Given the description of an element on the screen output the (x, y) to click on. 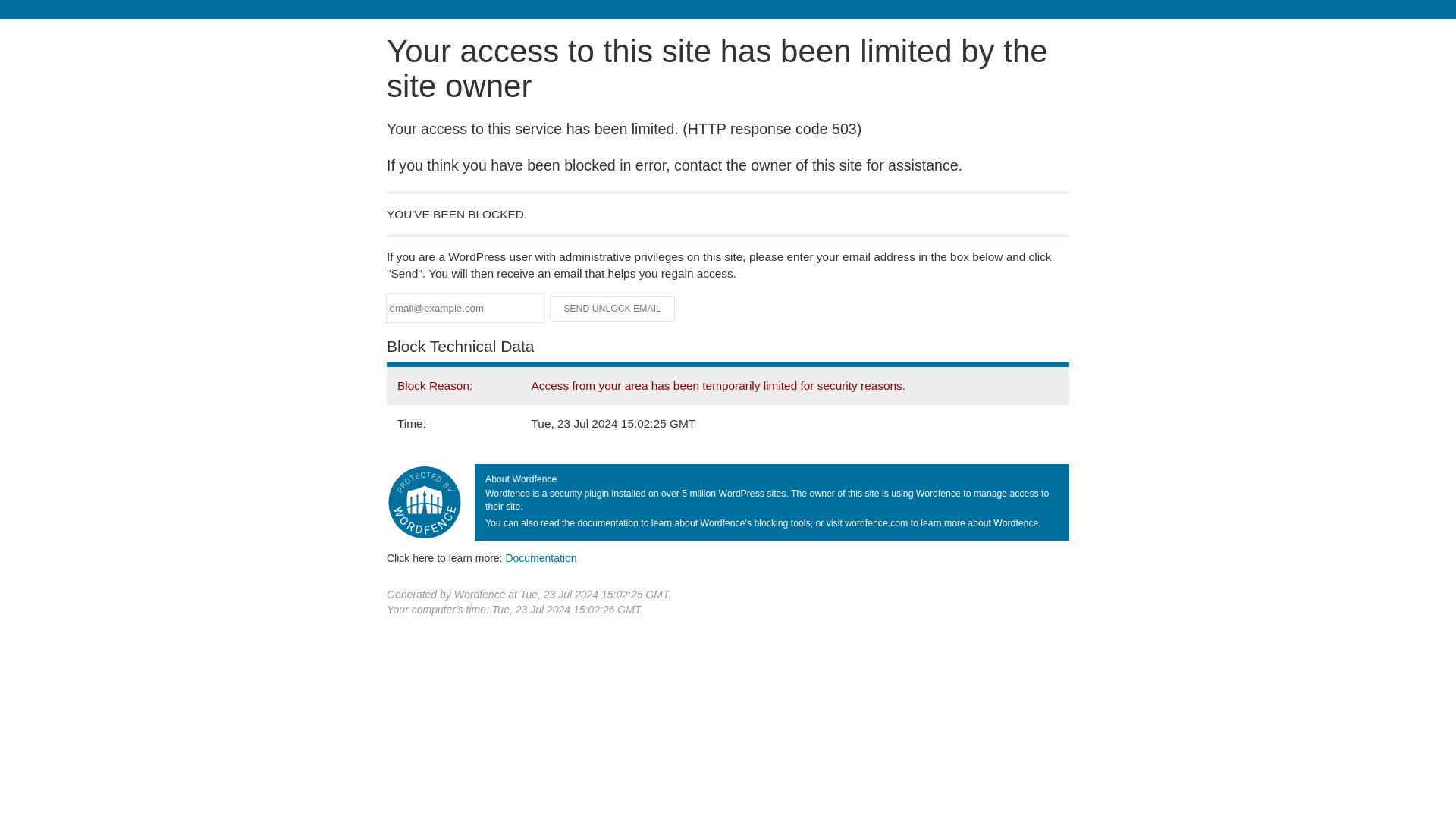
Documentation (540, 558)
Send Unlock Email (612, 308)
Send Unlock Email (612, 308)
